Given the description of an element on the screen output the (x, y) to click on. 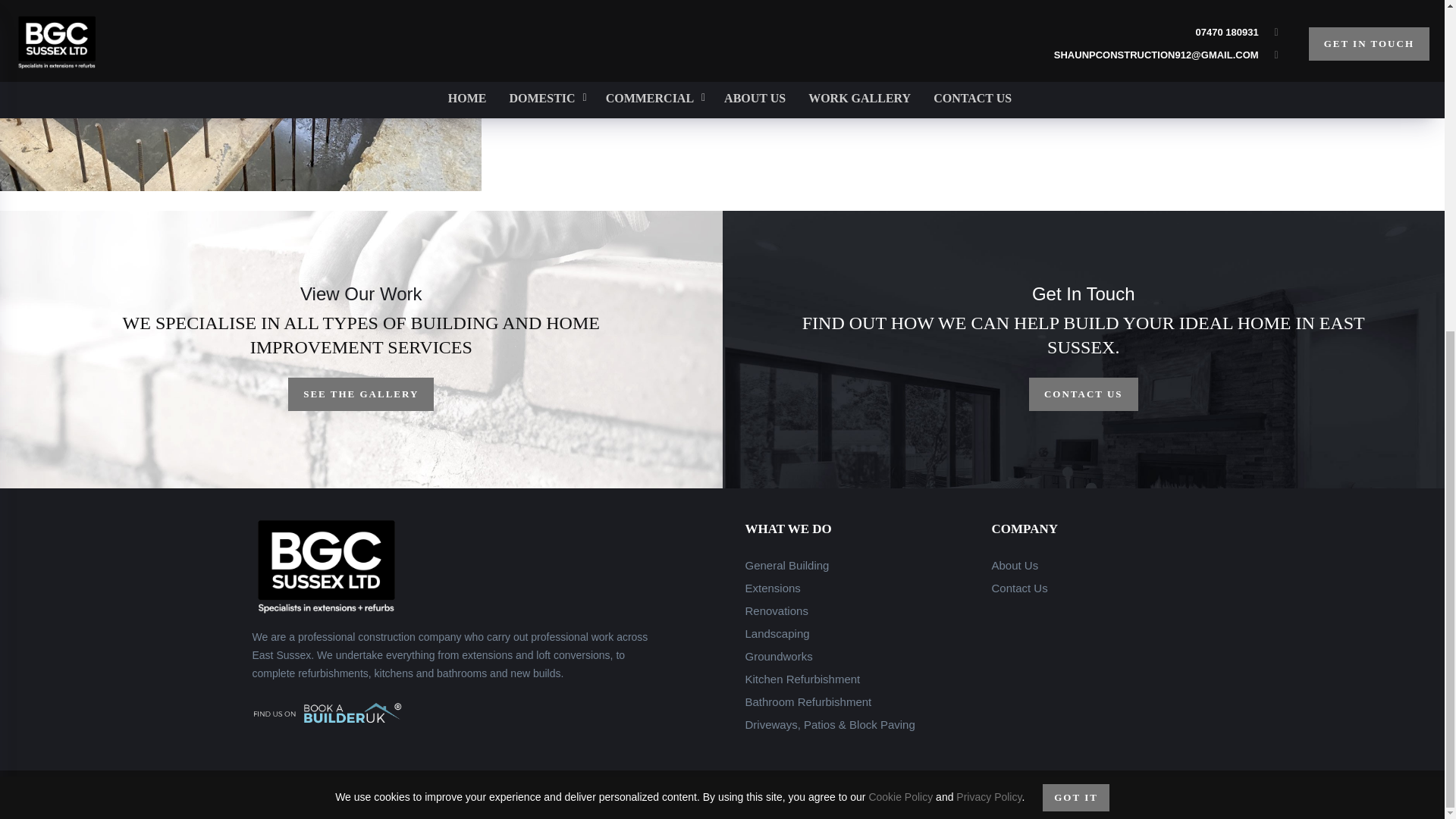
General Building (786, 564)
CONTACT US (1083, 394)
SEE THE GALLERY (360, 394)
